Given the description of an element on the screen output the (x, y) to click on. 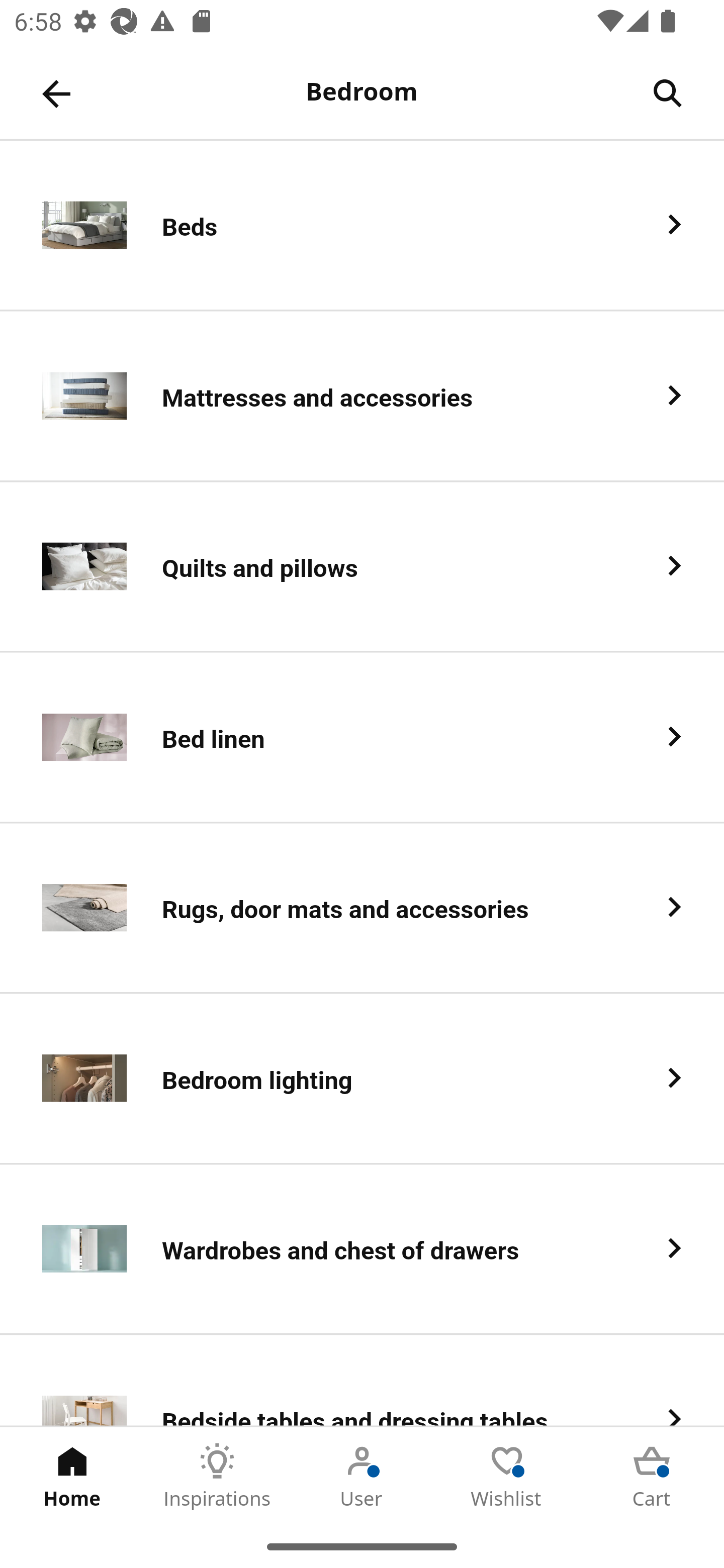
Beds (362, 226)
Mattresses and accessories (362, 396)
Quilts and pillows (362, 566)
Bed linen (362, 737)
Rugs, door mats and accessories (362, 908)
Bedroom lighting (362, 1079)
Wardrobes and chest of drawers (362, 1250)
Home
Tab 1 of 5 (72, 1476)
Inspirations
Tab 2 of 5 (216, 1476)
User
Tab 3 of 5 (361, 1476)
Wishlist
Tab 4 of 5 (506, 1476)
Cart
Tab 5 of 5 (651, 1476)
